Given the description of an element on the screen output the (x, y) to click on. 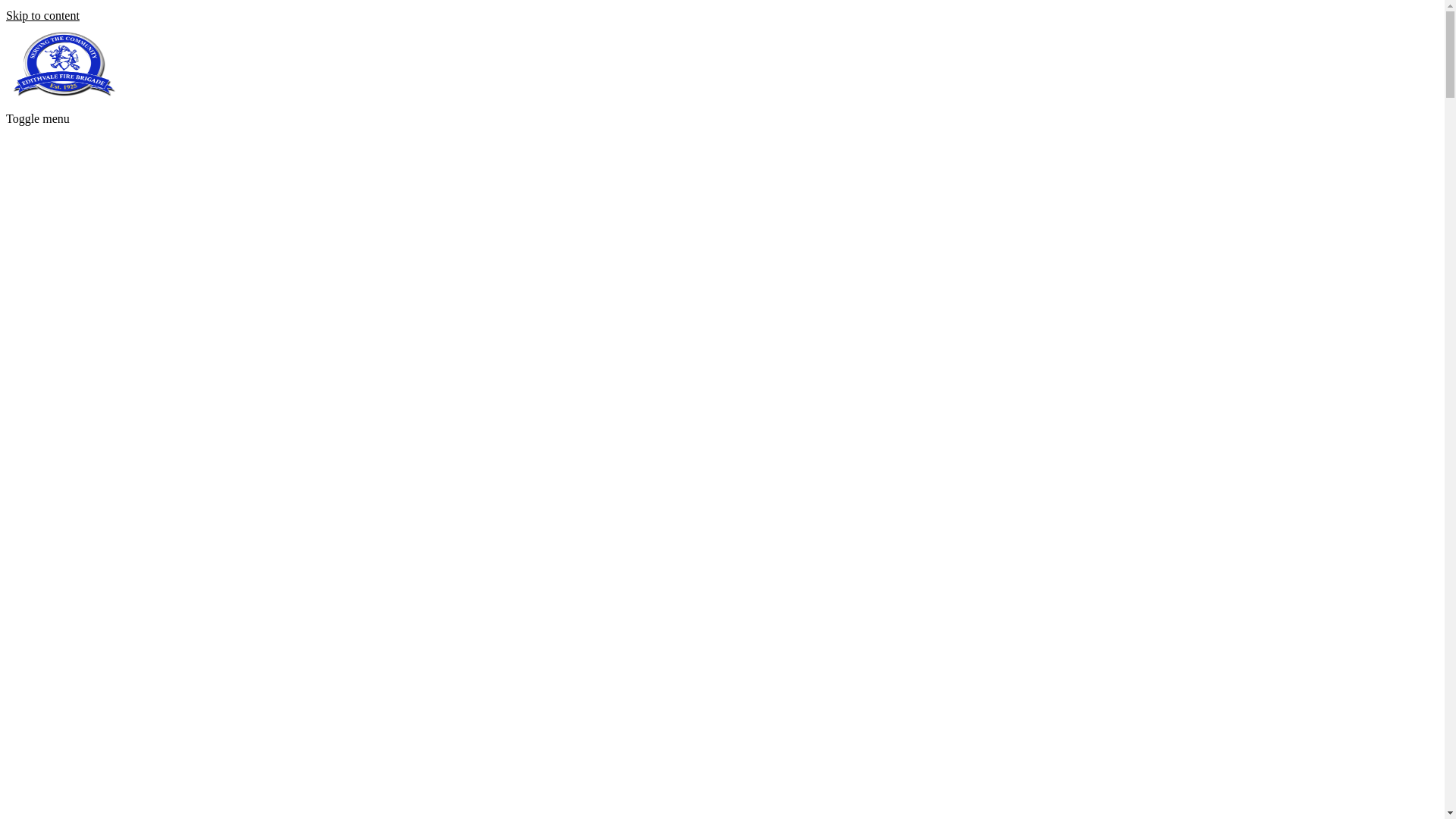
Edithvale Fire Brigade Element type: hover (62, 97)
Skip to content Element type: text (42, 15)
